Given the description of an element on the screen output the (x, y) to click on. 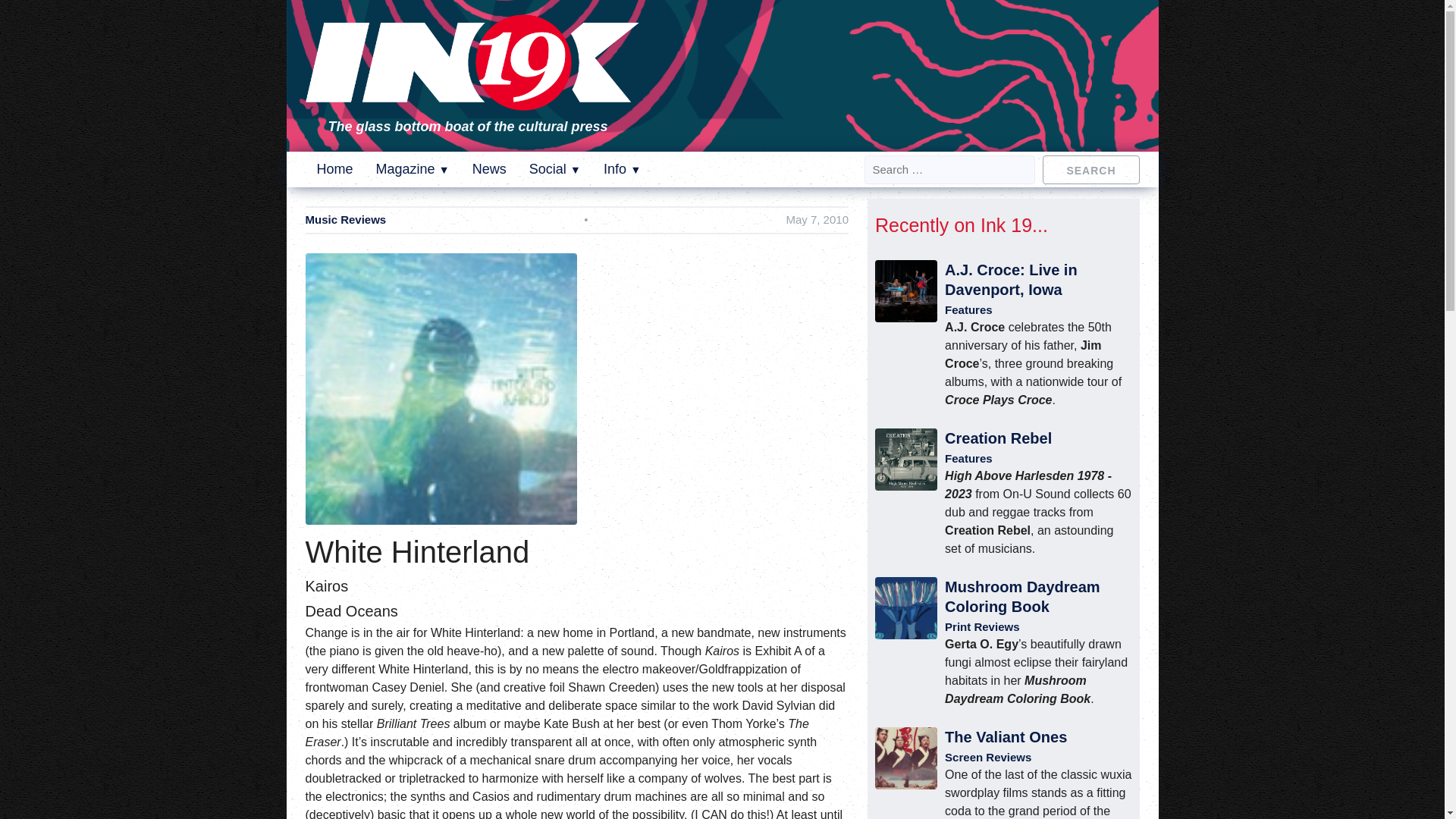
Magazine (412, 168)
News (488, 168)
Info (622, 168)
Search (1090, 168)
Music Reviews (344, 220)
Search (1090, 168)
Search (1090, 168)
Social (554, 168)
Ink 19 (471, 100)
Home (335, 168)
